Given the description of an element on the screen output the (x, y) to click on. 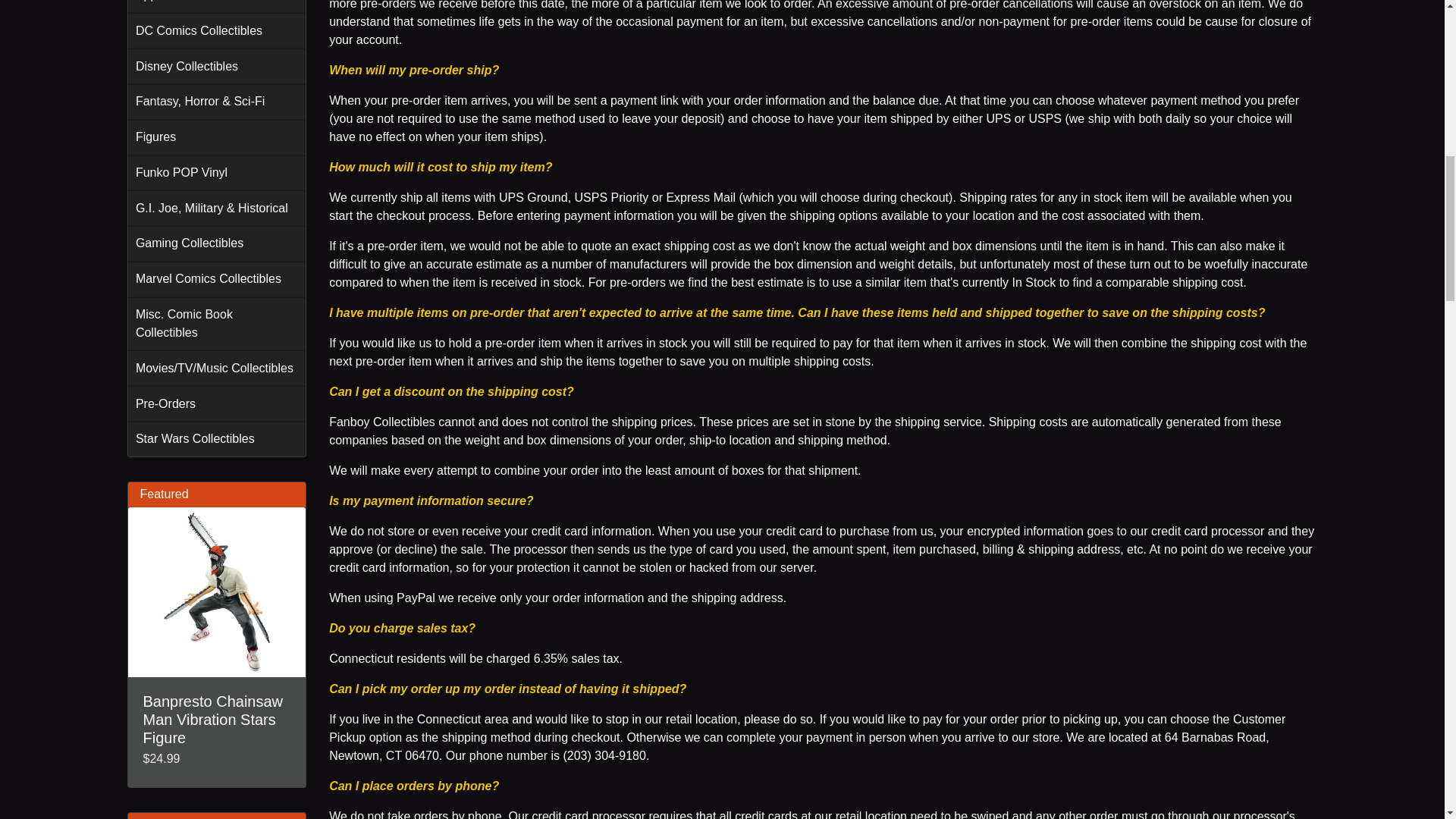
Apparel (216, 6)
Funko POP Vinyl (216, 172)
Figures (216, 137)
DC Comics Collectibles (216, 30)
Banpresto Chainsaw Man Vibration Stars Figure (216, 591)
Disney Collectibles (216, 66)
